Given the description of an element on the screen output the (x, y) to click on. 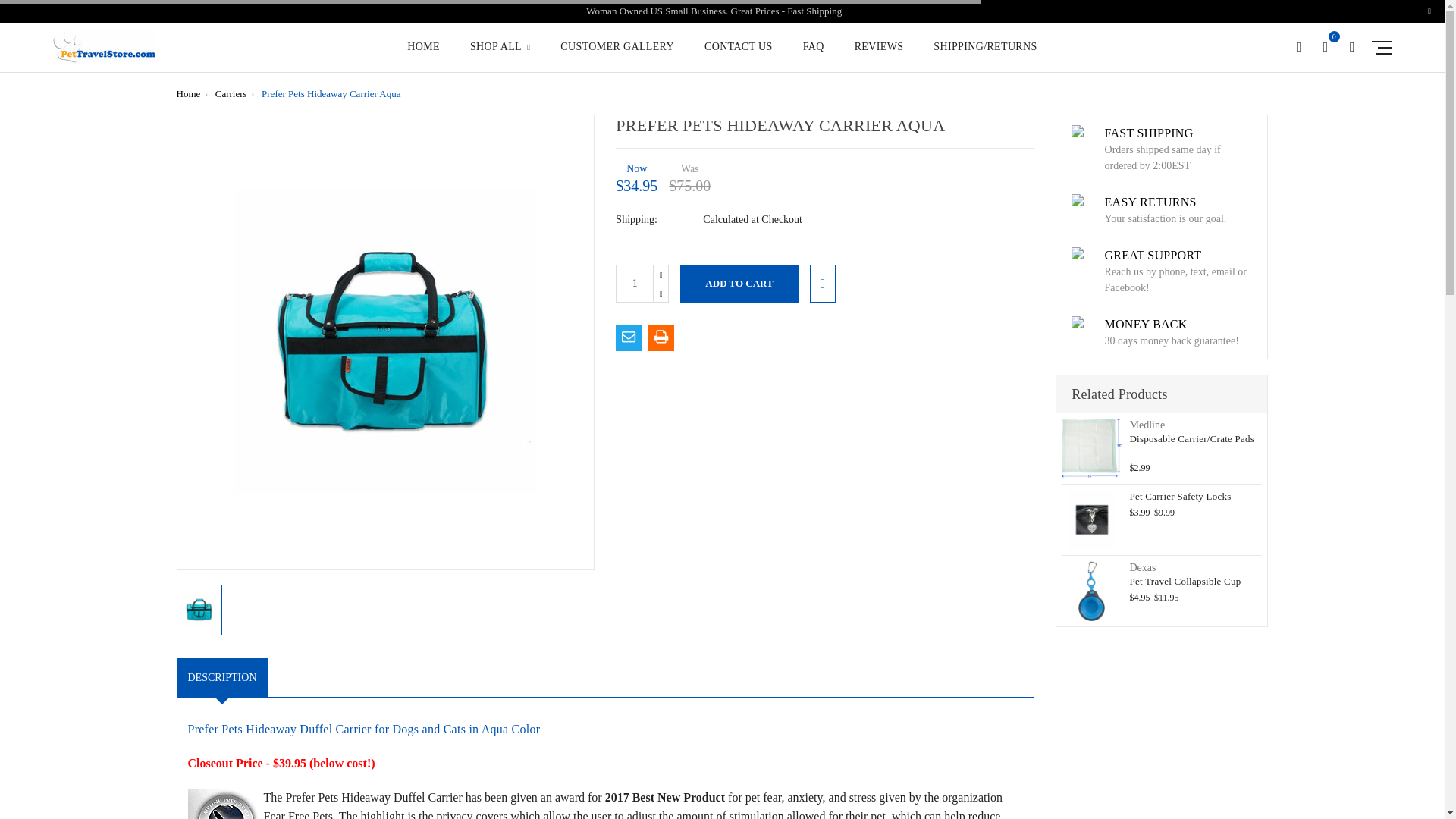
CONTACT US (738, 56)
1 (634, 282)
Pet Travel Store (103, 47)
Airline Compliant Pet Carrier (225, 803)
Add to Cart (738, 282)
HOME (423, 56)
SHOP ALL (499, 56)
REVIEWS (879, 56)
Prefer Pets Hideaway Pet Carrier Aqua (198, 609)
CUSTOMER GALLERY (617, 56)
